Given the description of an element on the screen output the (x, y) to click on. 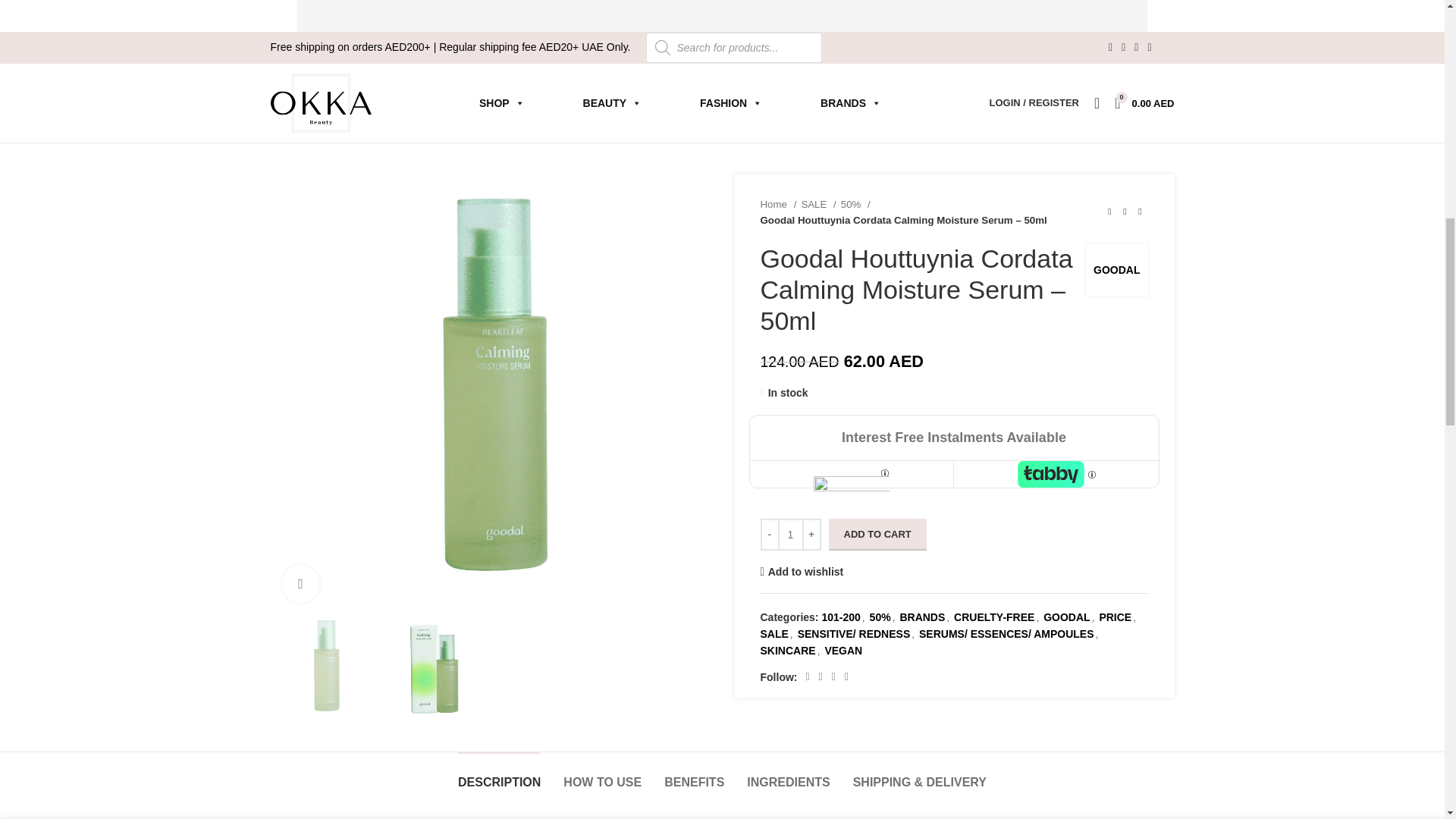
BEAUTY (612, 102)
Shopping cart (1143, 102)
SHOP (501, 102)
My account (1033, 102)
